Given the description of an element on the screen output the (x, y) to click on. 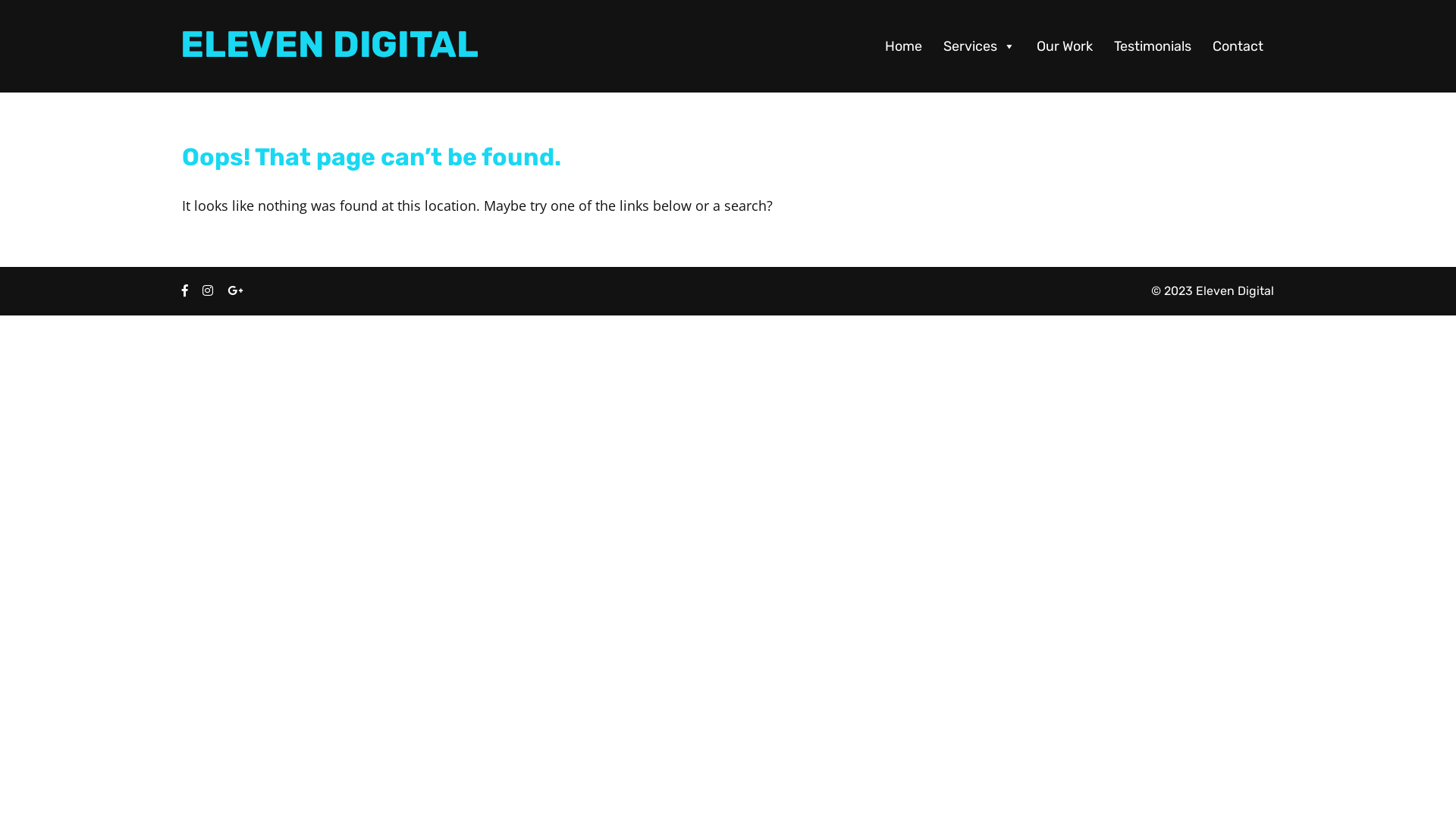
Our Work Element type: text (1064, 46)
Testimonials Element type: text (1152, 46)
Visit us on Google+ Element type: hover (234, 290)
Services Element type: text (979, 46)
Home Element type: text (903, 46)
Contact Element type: text (1237, 46)
Visit us on Facebook Element type: hover (185, 290)
Visit us on Instagram Element type: hover (207, 290)
